Given the description of an element on the screen output the (x, y) to click on. 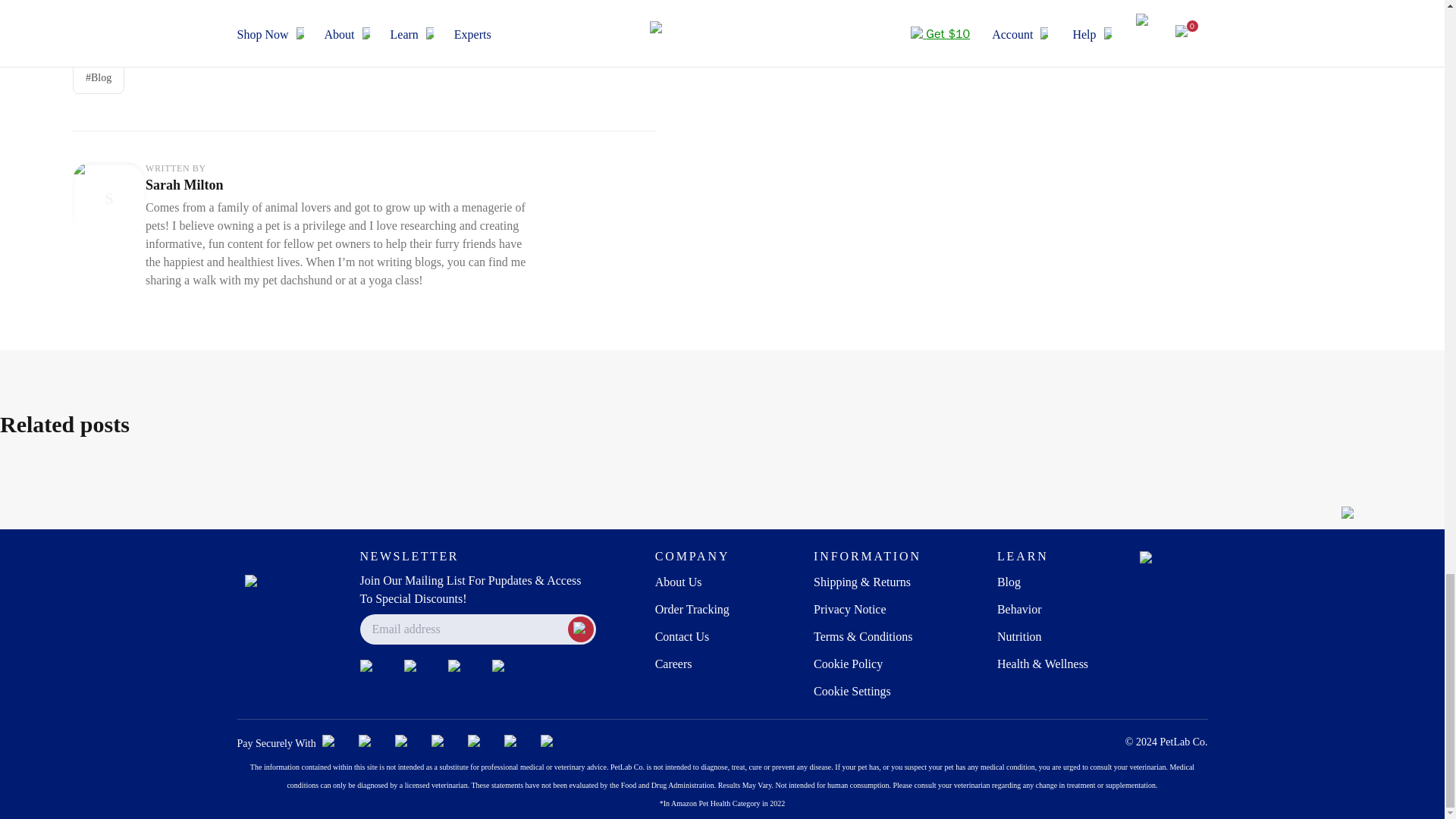
Sarah Milton (184, 184)
